Given the description of an element on the screen output the (x, y) to click on. 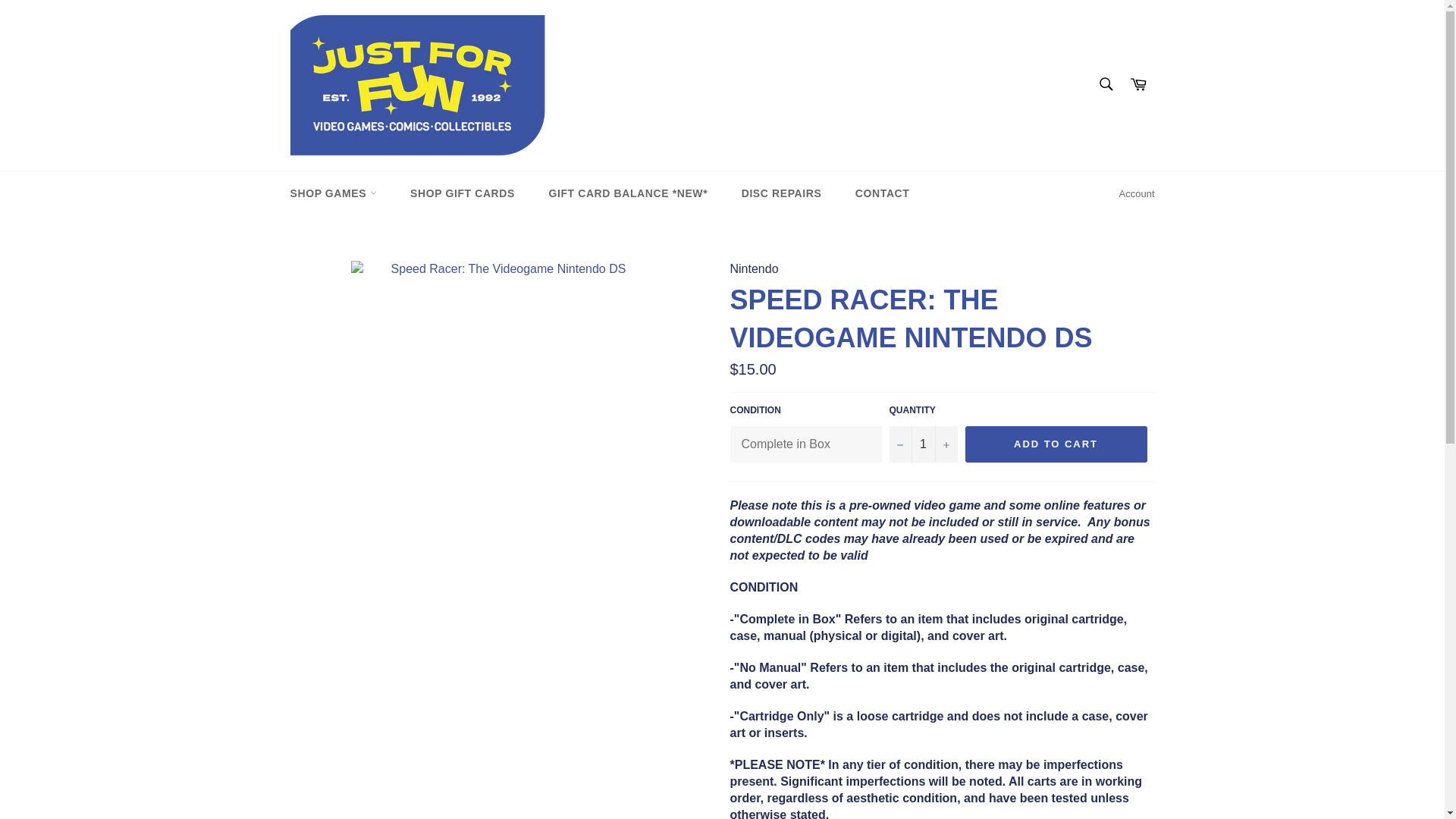
Search (1104, 83)
Account (1136, 193)
1 (922, 443)
DISC REPAIRS (781, 193)
SHOP GIFT CARDS (461, 193)
SHOP GAMES (333, 193)
Cart (1138, 84)
CONTACT (882, 193)
